Given the description of an element on the screen output the (x, y) to click on. 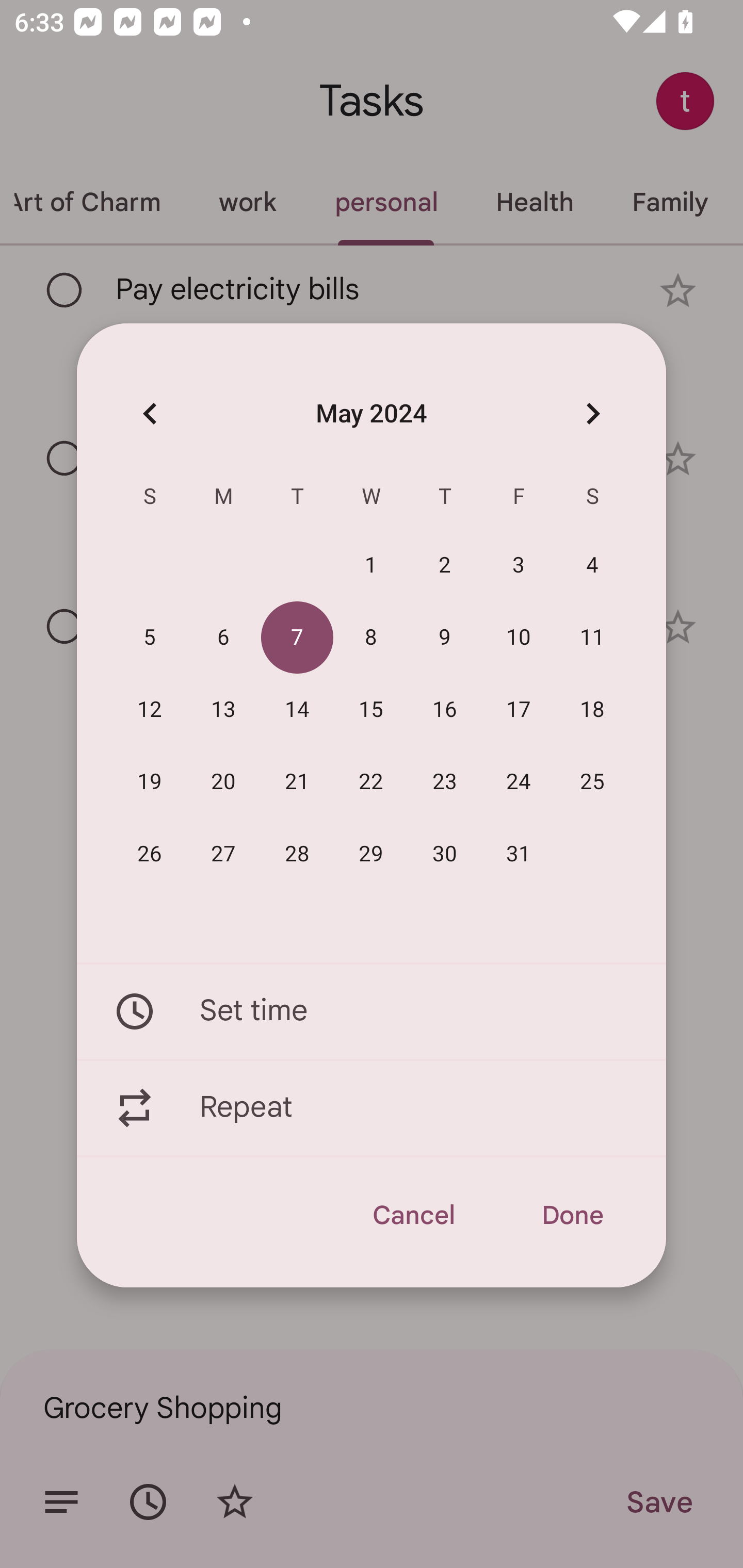
Previous month (149, 413)
Next month (592, 413)
1 01 May 2024 (370, 565)
2 02 May 2024 (444, 565)
3 03 May 2024 (518, 565)
4 04 May 2024 (592, 565)
5 05 May 2024 (149, 638)
6 06 May 2024 (223, 638)
7 07 May 2024 (297, 638)
8 08 May 2024 (370, 638)
9 09 May 2024 (444, 638)
10 10 May 2024 (518, 638)
11 11 May 2024 (592, 638)
12 12 May 2024 (149, 710)
13 13 May 2024 (223, 710)
14 14 May 2024 (297, 710)
15 15 May 2024 (370, 710)
16 16 May 2024 (444, 710)
17 17 May 2024 (518, 710)
18 18 May 2024 (592, 710)
19 19 May 2024 (149, 782)
20 20 May 2024 (223, 782)
21 21 May 2024 (297, 782)
22 22 May 2024 (370, 782)
23 23 May 2024 (444, 782)
24 24 May 2024 (518, 782)
25 25 May 2024 (592, 782)
26 26 May 2024 (149, 854)
27 27 May 2024 (223, 854)
28 28 May 2024 (297, 854)
29 29 May 2024 (370, 854)
30 30 May 2024 (444, 854)
31 31 May 2024 (518, 854)
Set time (371, 1011)
Repeat (371, 1108)
Cancel (412, 1215)
Done (571, 1215)
